Given the description of an element on the screen output the (x, y) to click on. 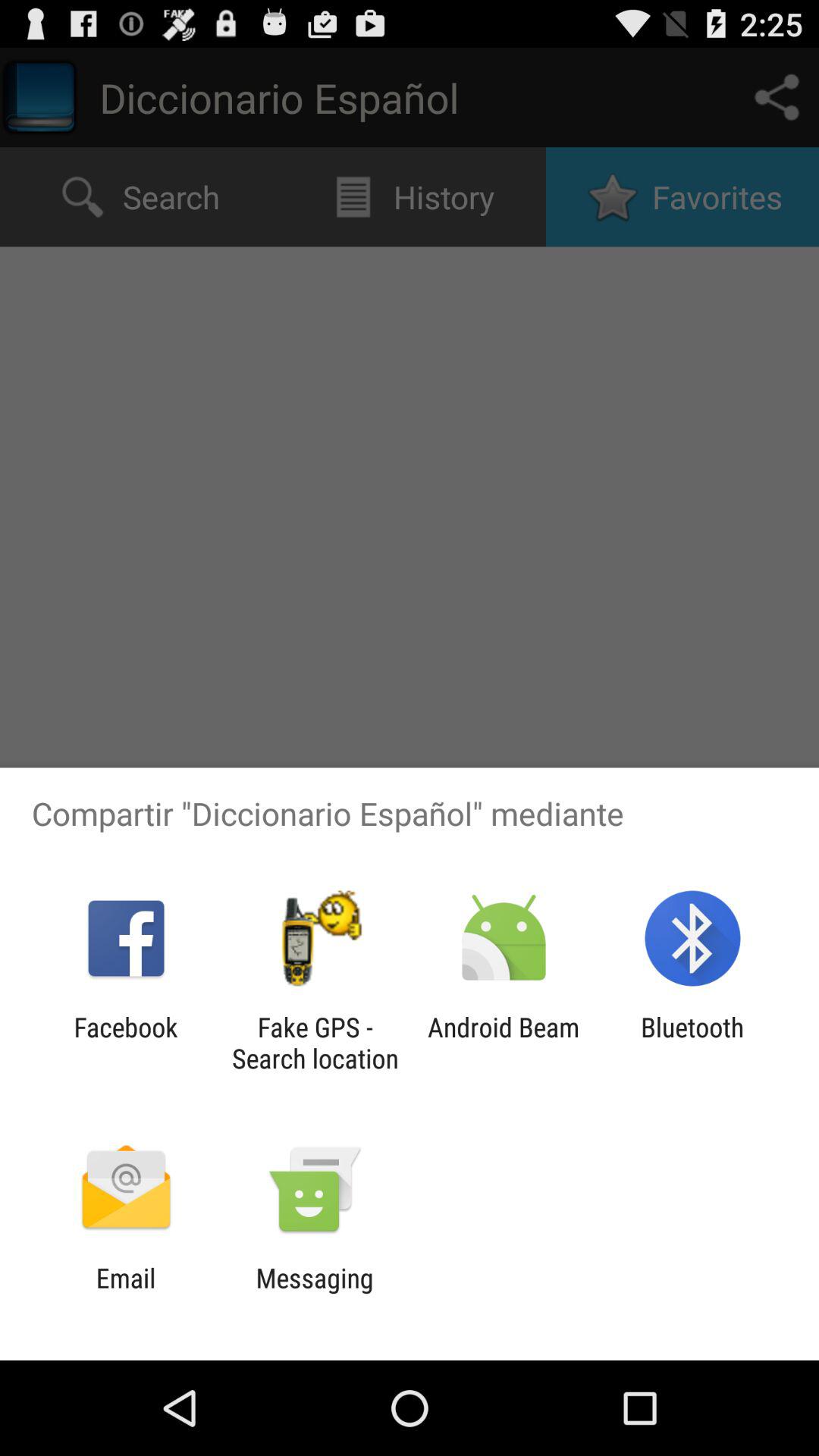
choose the item to the right of fake gps search icon (503, 1042)
